Given the description of an element on the screen output the (x, y) to click on. 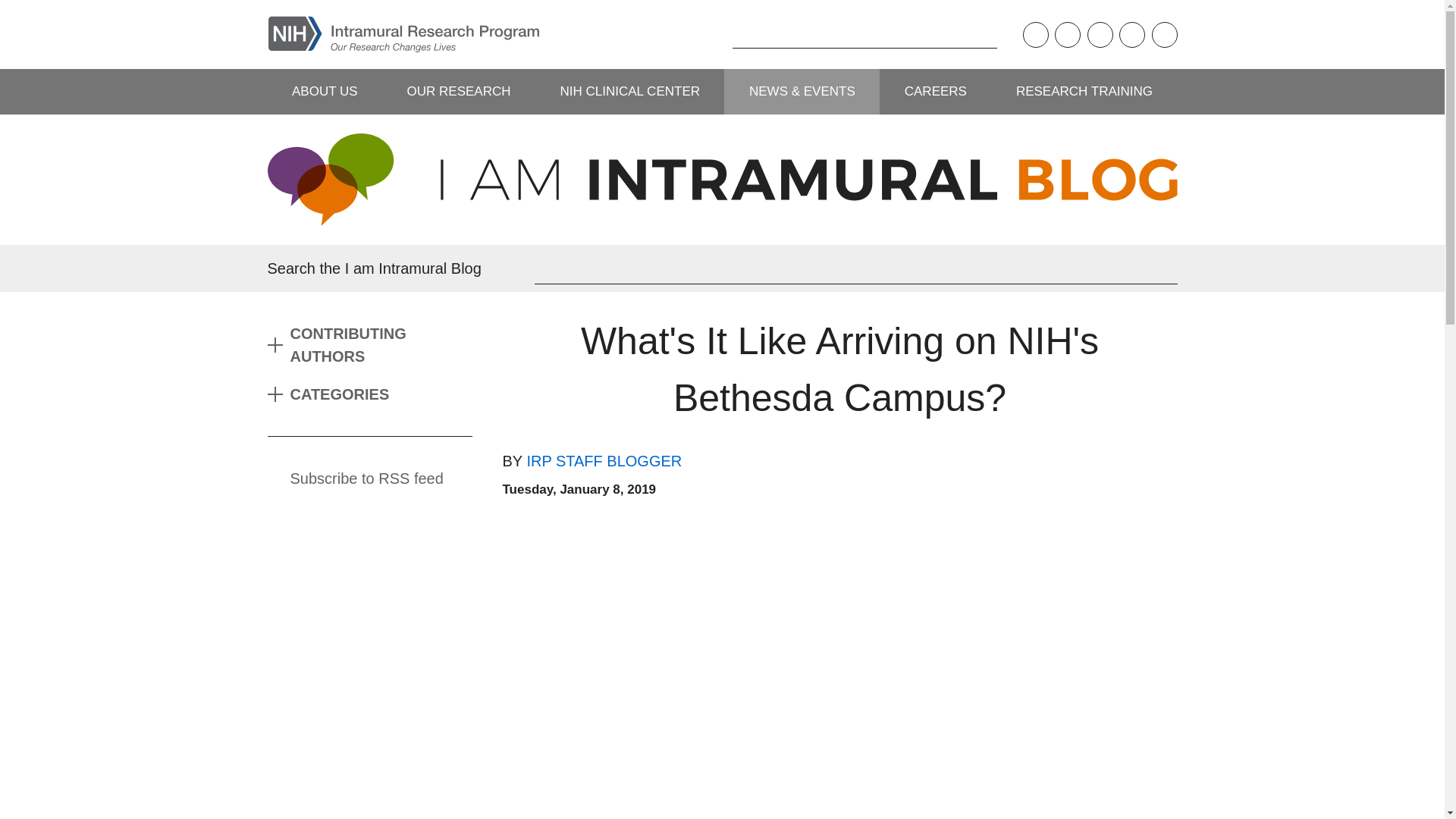
Podcast (1035, 34)
ABOUT US (323, 91)
SEARCH (707, 34)
Skip to main content (11, 11)
